Given the description of an element on the screen output the (x, y) to click on. 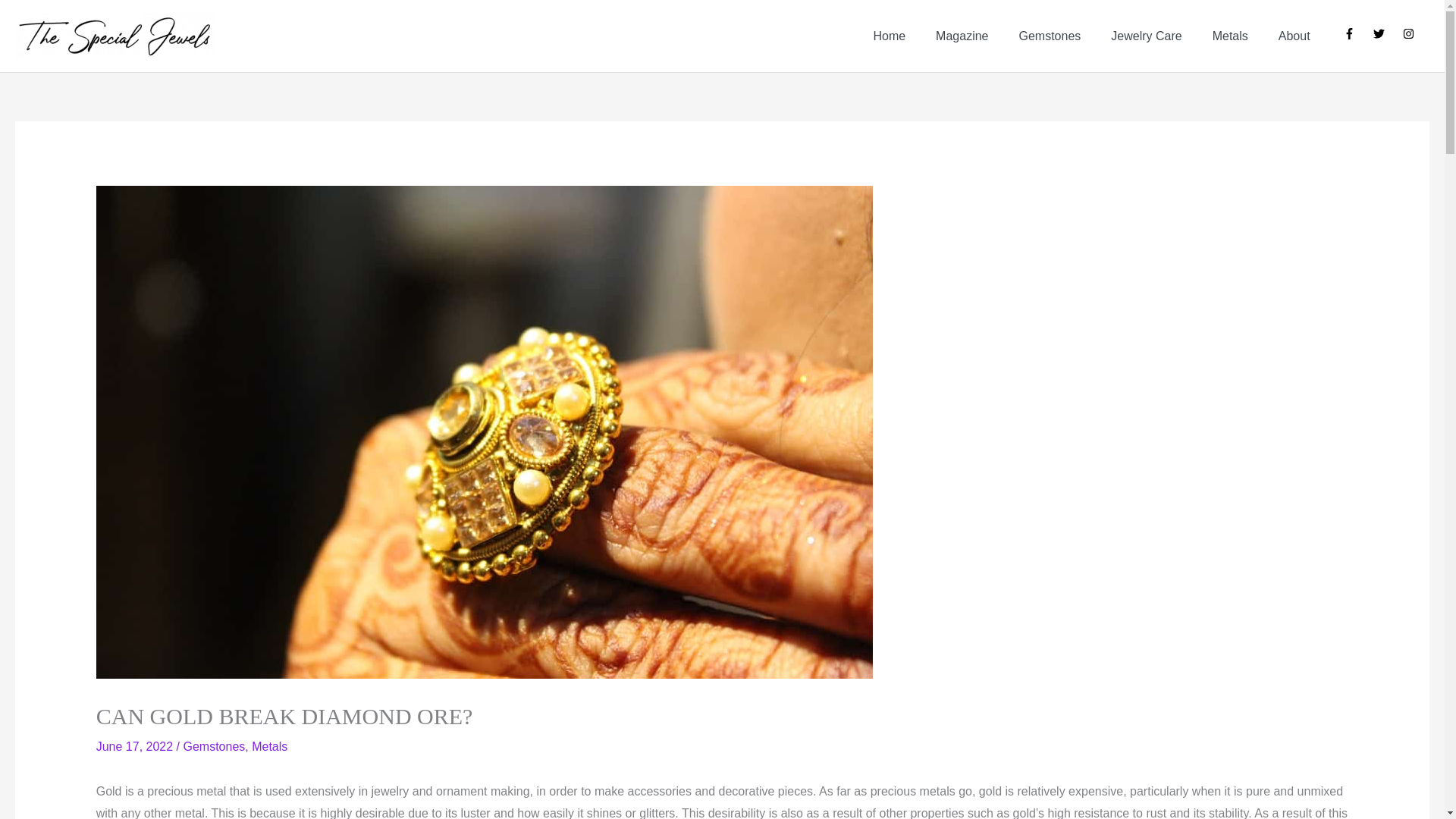
Home (888, 36)
Gemstones (213, 746)
Metals (268, 746)
About (1293, 36)
Jewelry Care (1146, 36)
Magazine (961, 36)
Metals (1229, 36)
Gemstones (1049, 36)
